Given the description of an element on the screen output the (x, y) to click on. 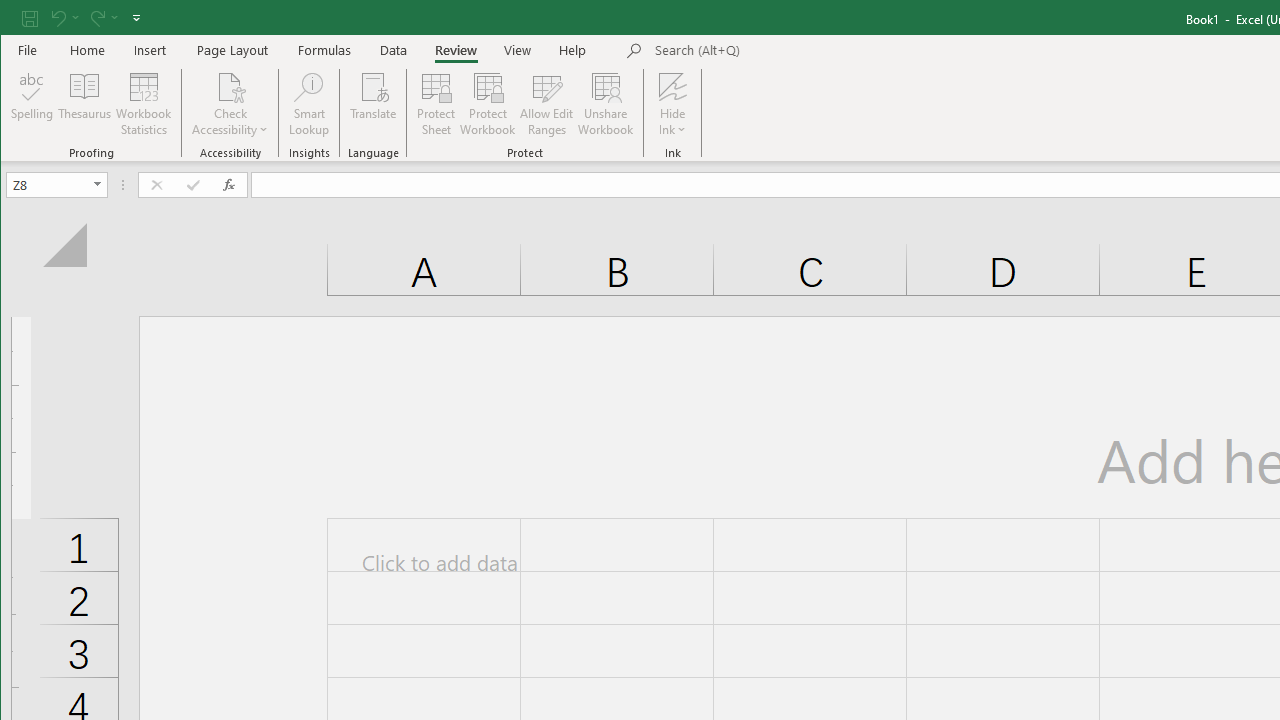
Save (29, 17)
Open (98, 184)
Microsoft search (794, 51)
Check Accessibility (230, 104)
Unshare Workbook (606, 104)
Page Layout (231, 50)
